Given the description of an element on the screen output the (x, y) to click on. 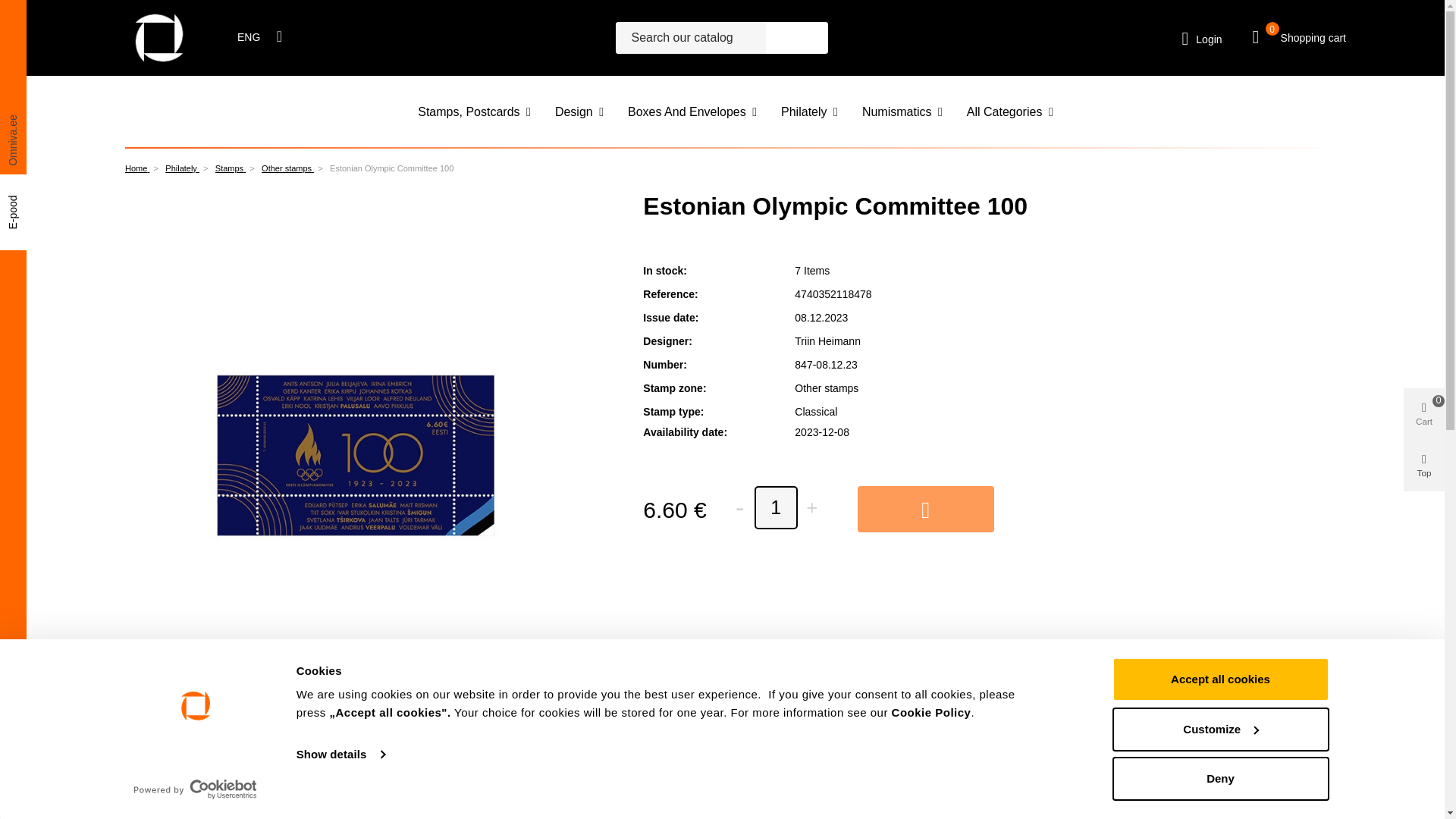
AS Eesti Post - e-pood (159, 38)
1 (775, 507)
Customize (1219, 728)
Show details (340, 753)
Accept all cookies (1219, 679)
Log in to your customer account (1202, 37)
Deny (1219, 778)
Cookie Policy (931, 712)
